Given the description of an element on the screen output the (x, y) to click on. 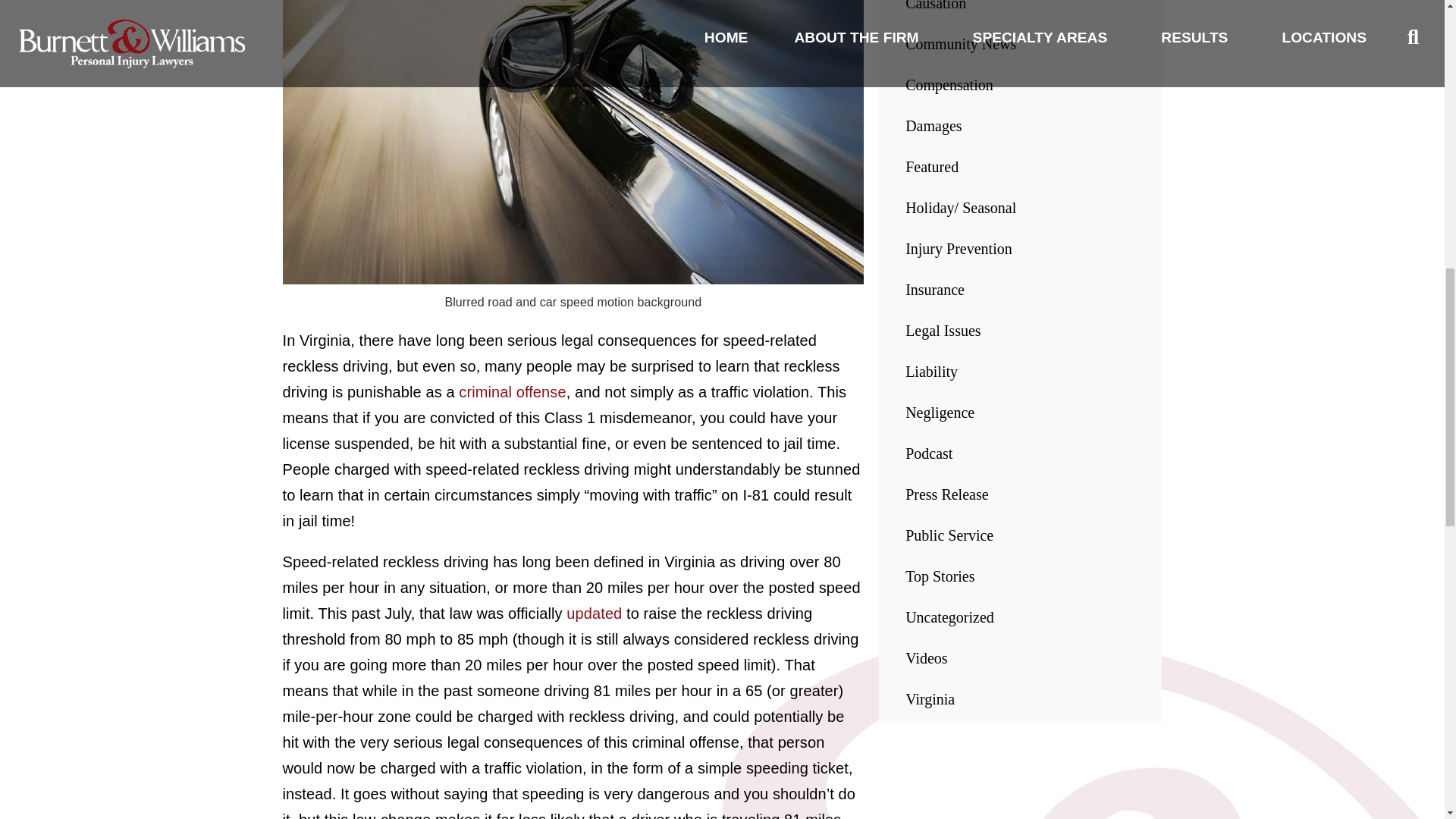
Community News (960, 44)
Featured (931, 166)
Damages (932, 125)
Compensation (948, 84)
Injury Prevention (958, 248)
criminal offense (512, 392)
updated (593, 613)
Causation (935, 5)
Insurance (934, 289)
